Given the description of an element on the screen output the (x, y) to click on. 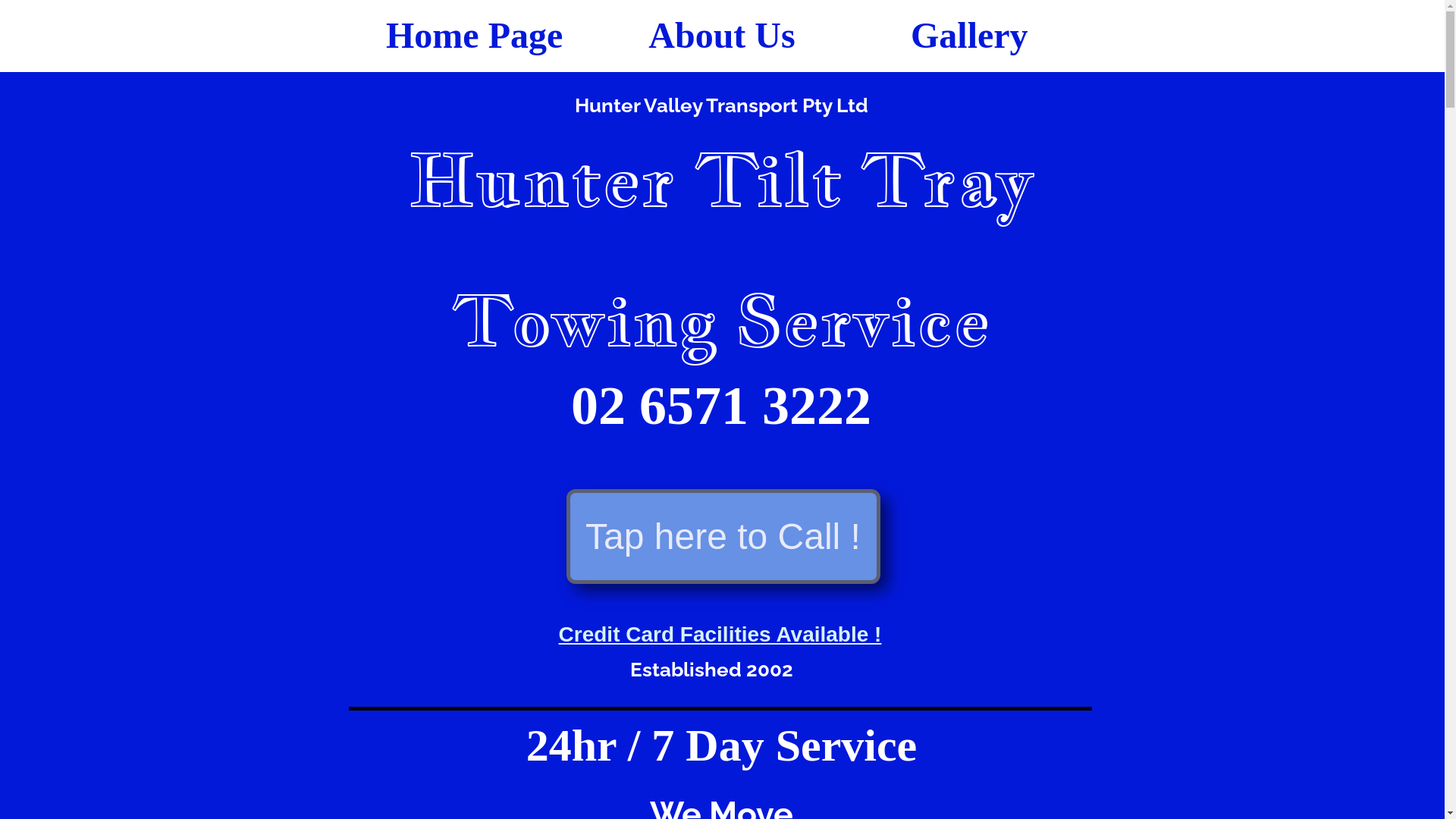
Tap here to Call ! Element type: text (722, 536)
Gallery Element type: text (968, 35)
About Us Element type: text (721, 35)
Home Page Element type: text (473, 35)
